Given the description of an element on the screen output the (x, y) to click on. 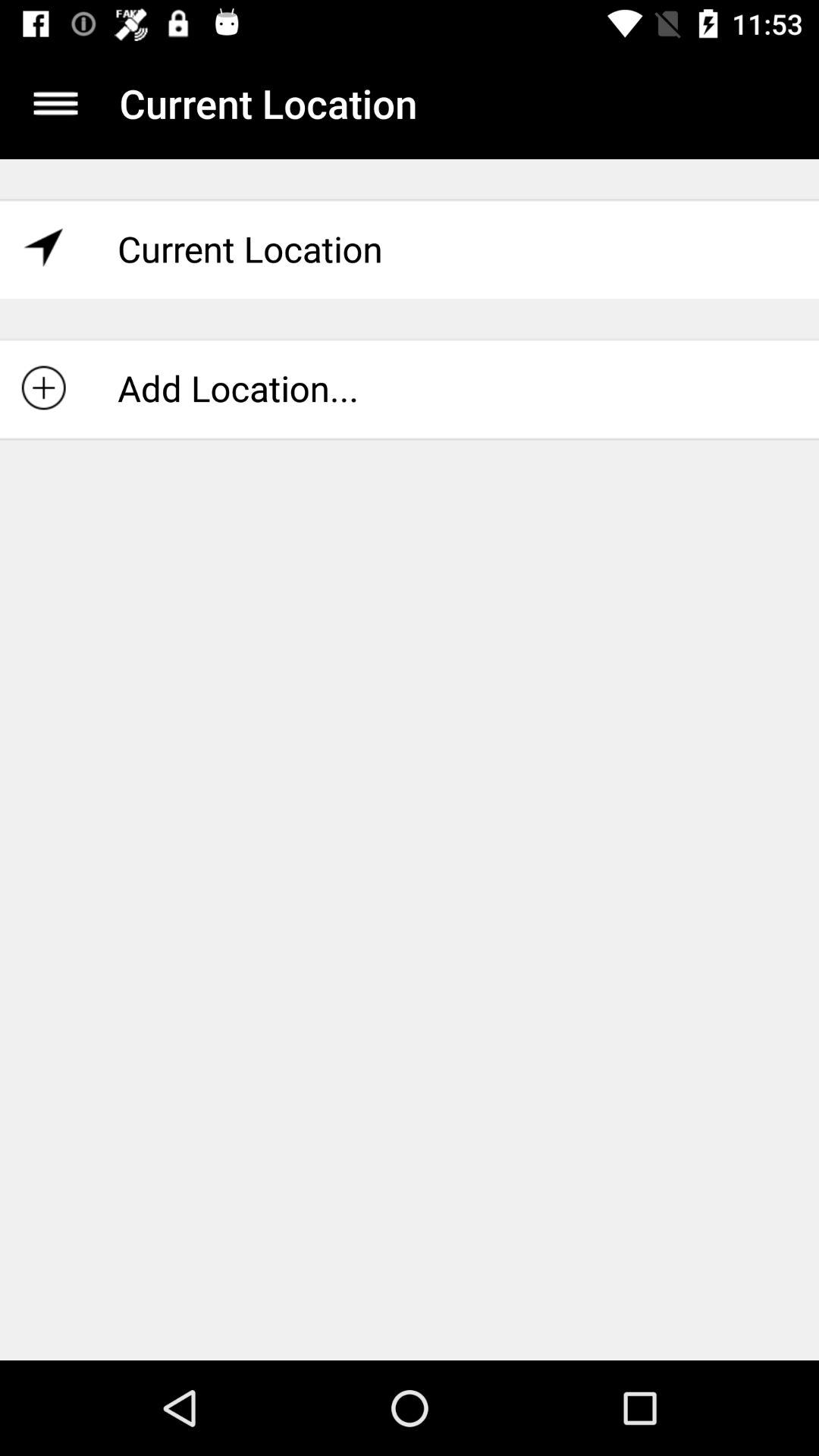
launch item to the left of current location (55, 103)
